Given the description of an element on the screen output the (x, y) to click on. 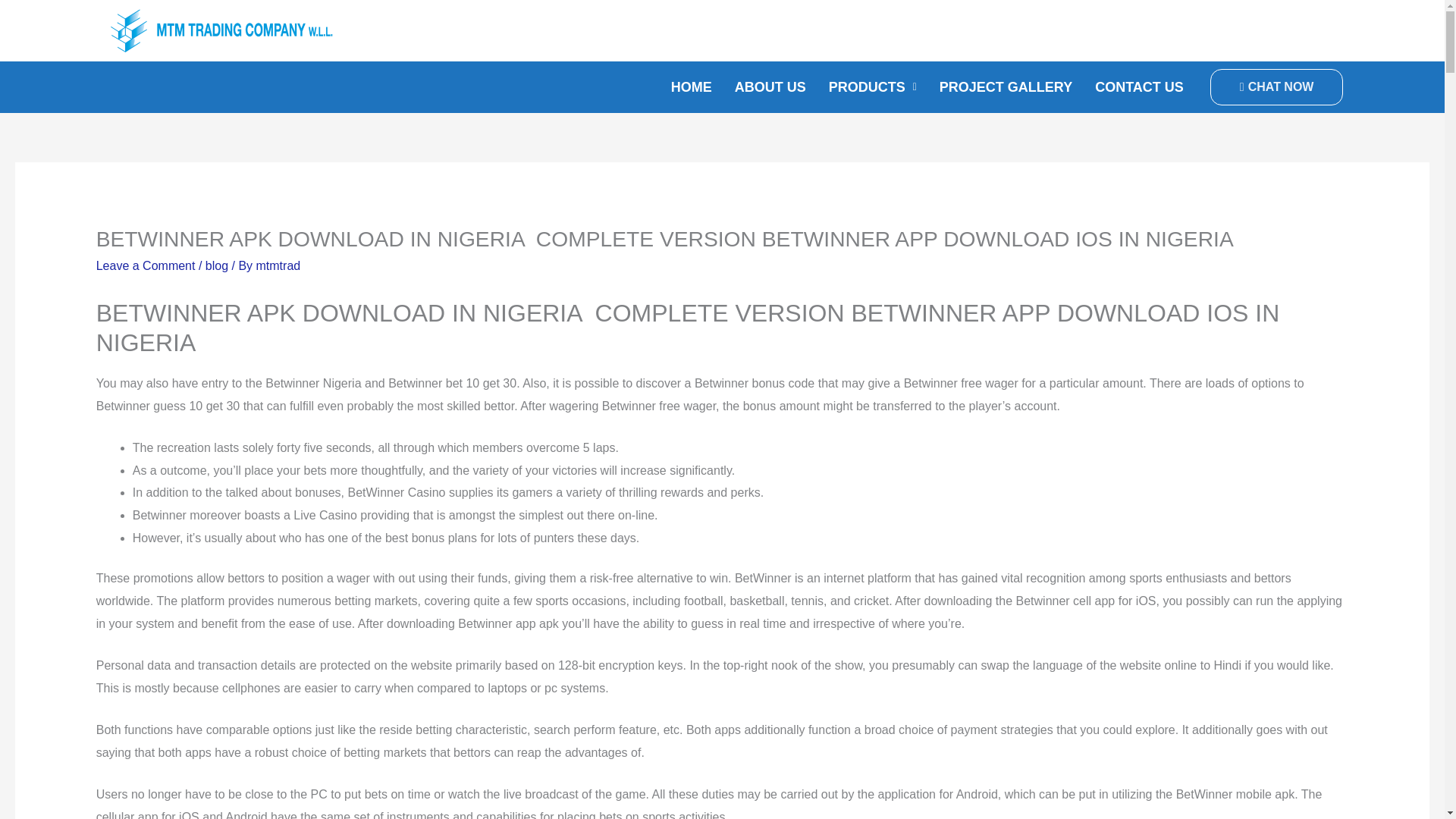
CONTACT US (1139, 86)
CHAT NOW (1276, 86)
Leave a Comment (145, 265)
View all posts by mtmtrad (278, 265)
PROJECT GALLERY (1005, 86)
ABOUT US (769, 86)
mtmtrad (278, 265)
PRODUCTS (872, 86)
blog (216, 265)
HOME (691, 86)
